Given the description of an element on the screen output the (x, y) to click on. 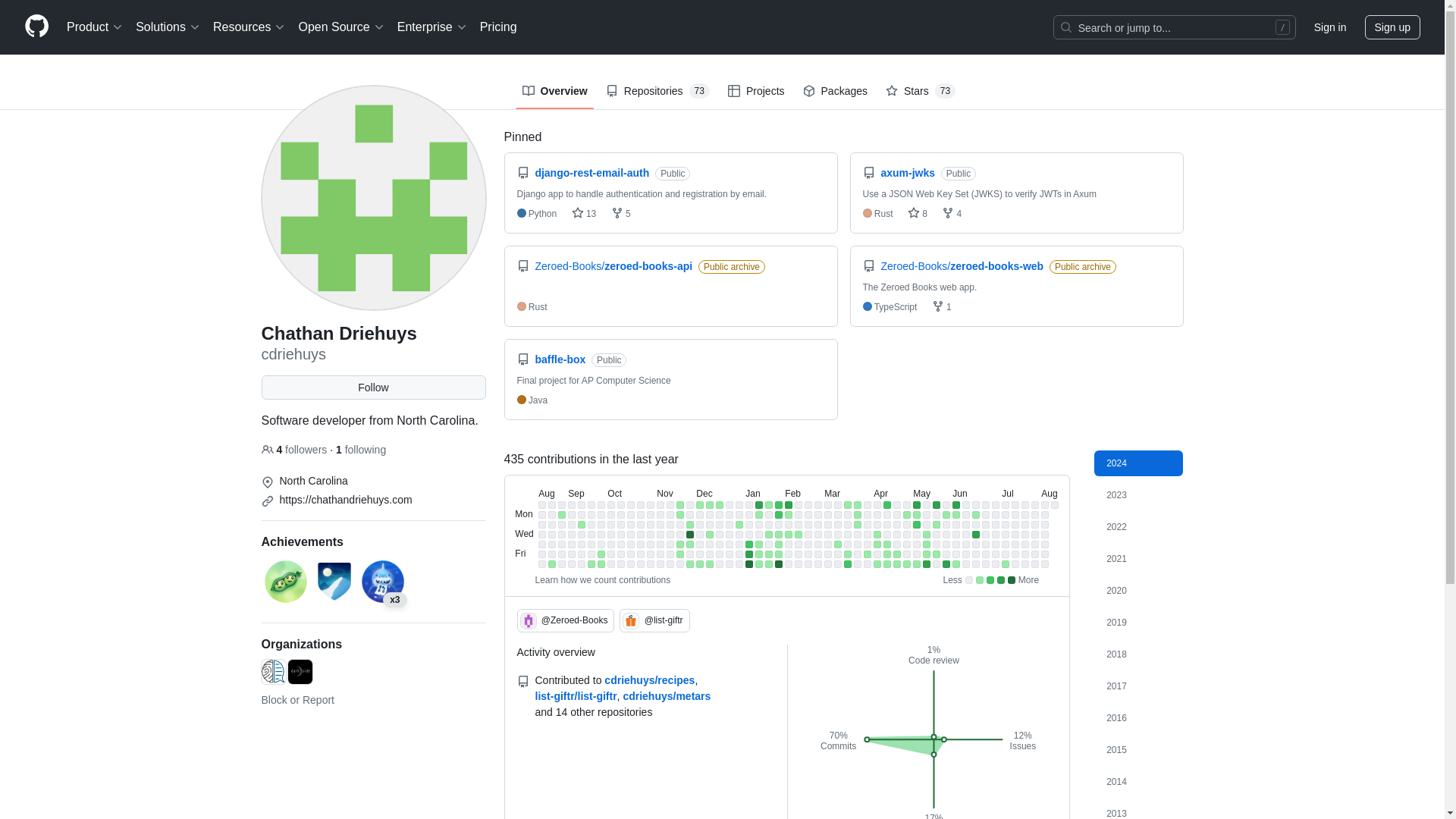
Product (95, 27)
Solutions (167, 27)
73 (944, 90)
Open Source (341, 27)
Resources (249, 27)
73 (699, 90)
